Given the description of an element on the screen output the (x, y) to click on. 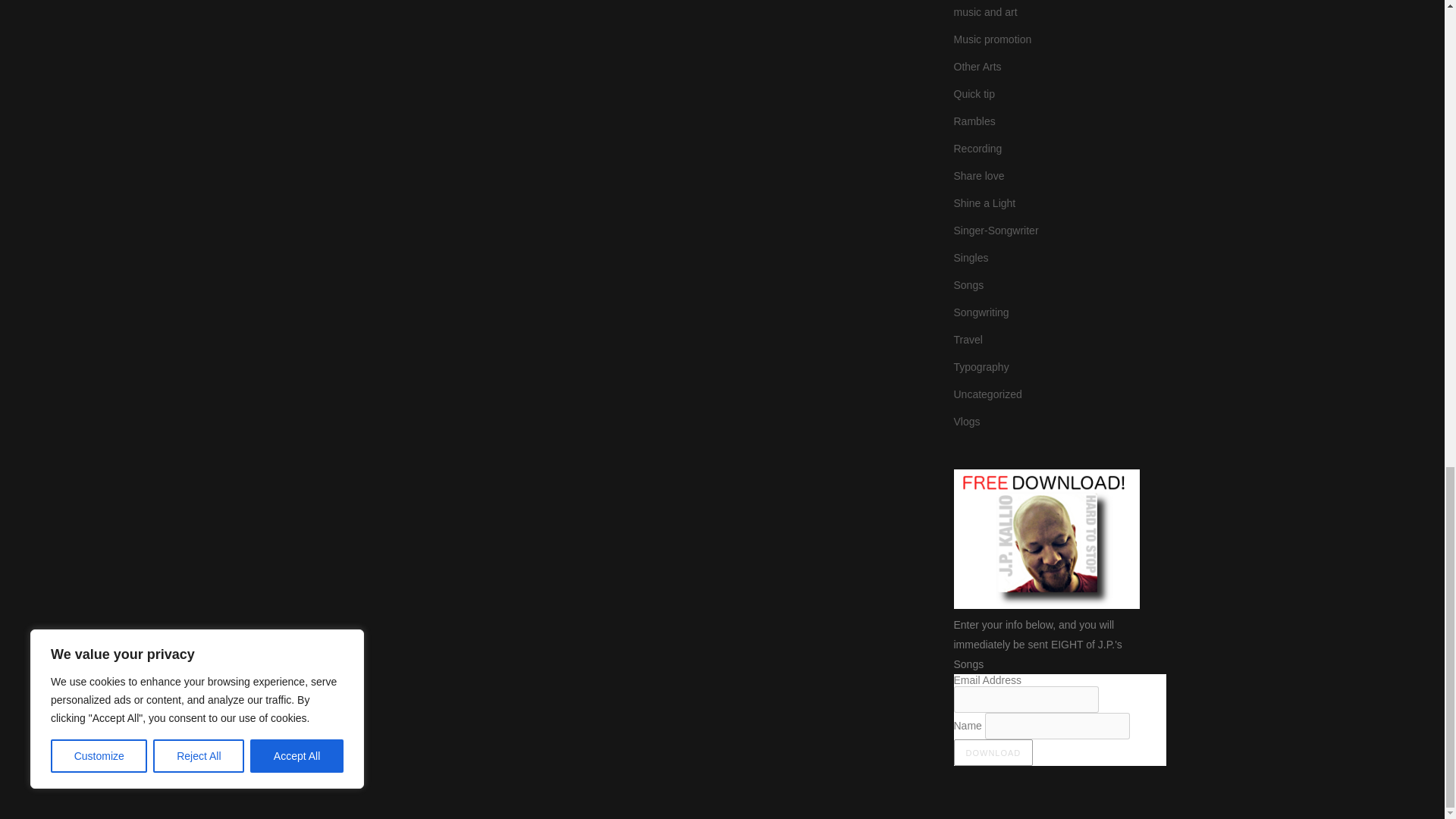
Download (993, 752)
